Given the description of an element on the screen output the (x, y) to click on. 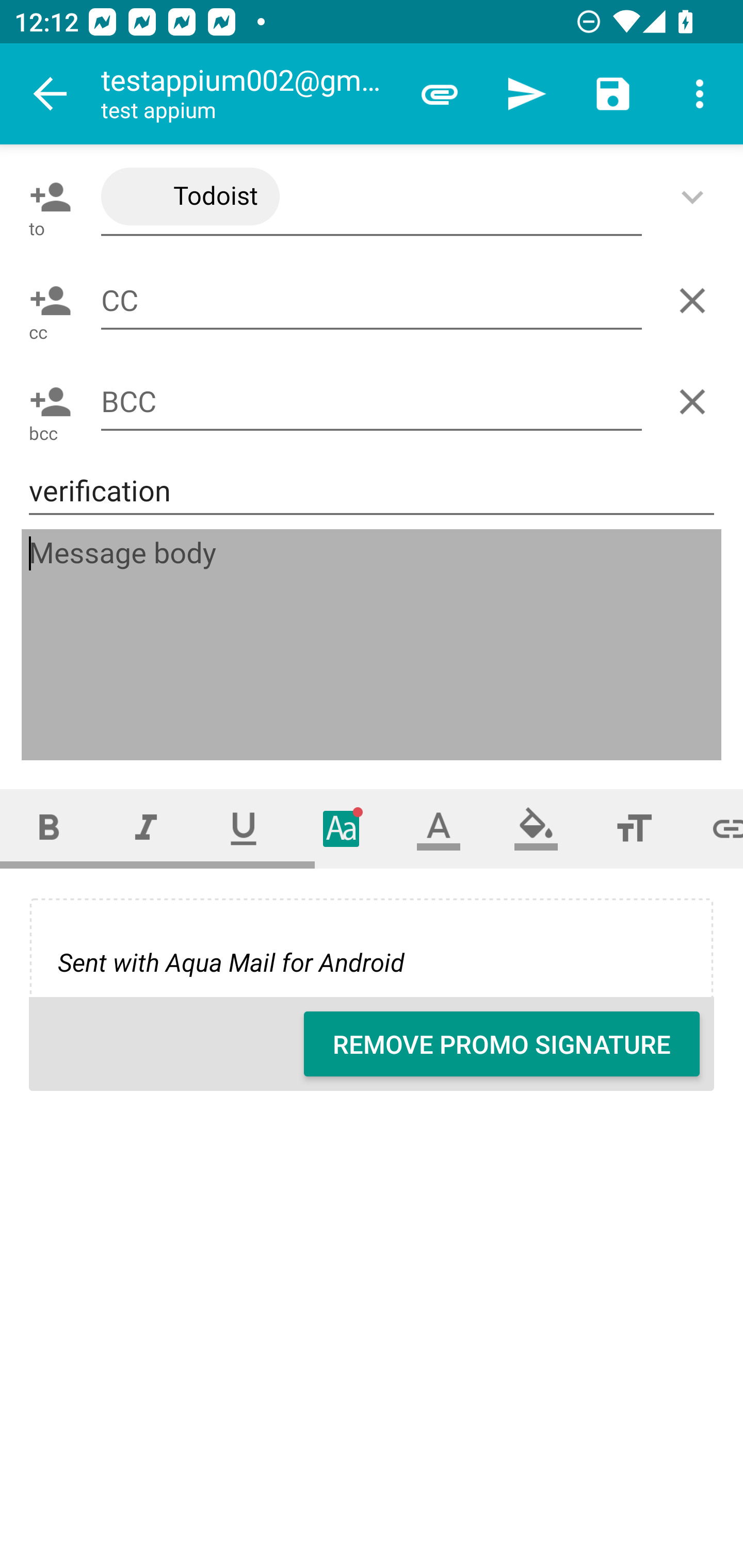
Navigate up (50, 93)
testappium002@gmail.com test appium (248, 93)
Attach (439, 93)
Send (525, 93)
Save (612, 93)
More options (699, 93)
Todoist <no-reply@todoist.com>,  (371, 197)
Pick contact: To (46, 196)
Show/Add CC/BCC (696, 196)
Pick contact: CC (46, 300)
Delete (696, 300)
CC (371, 300)
Pick contact: BCC (46, 401)
Delete (696, 401)
BCC (371, 402)
verification (371, 490)
Message body (372, 645)
Bold (48, 828)
Italic (145, 828)
Underline (243, 828)
Typeface (font) (341, 828)
Text color (438, 828)
Fill color (536, 828)
Font size (633, 828)
REMOVE PROMO SIGNATURE (501, 1044)
